Given the description of an element on the screen output the (x, y) to click on. 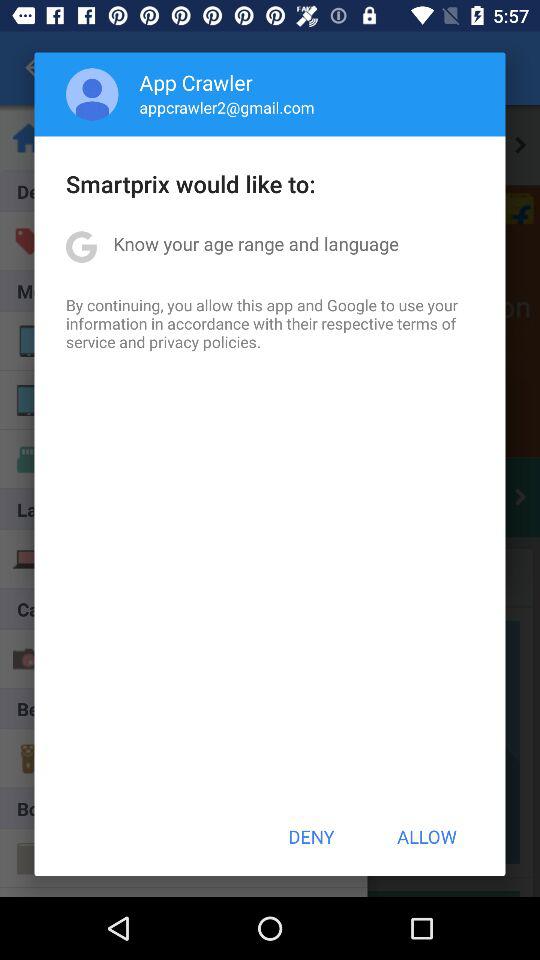
select item above the by continuing you item (255, 243)
